Given the description of an element on the screen output the (x, y) to click on. 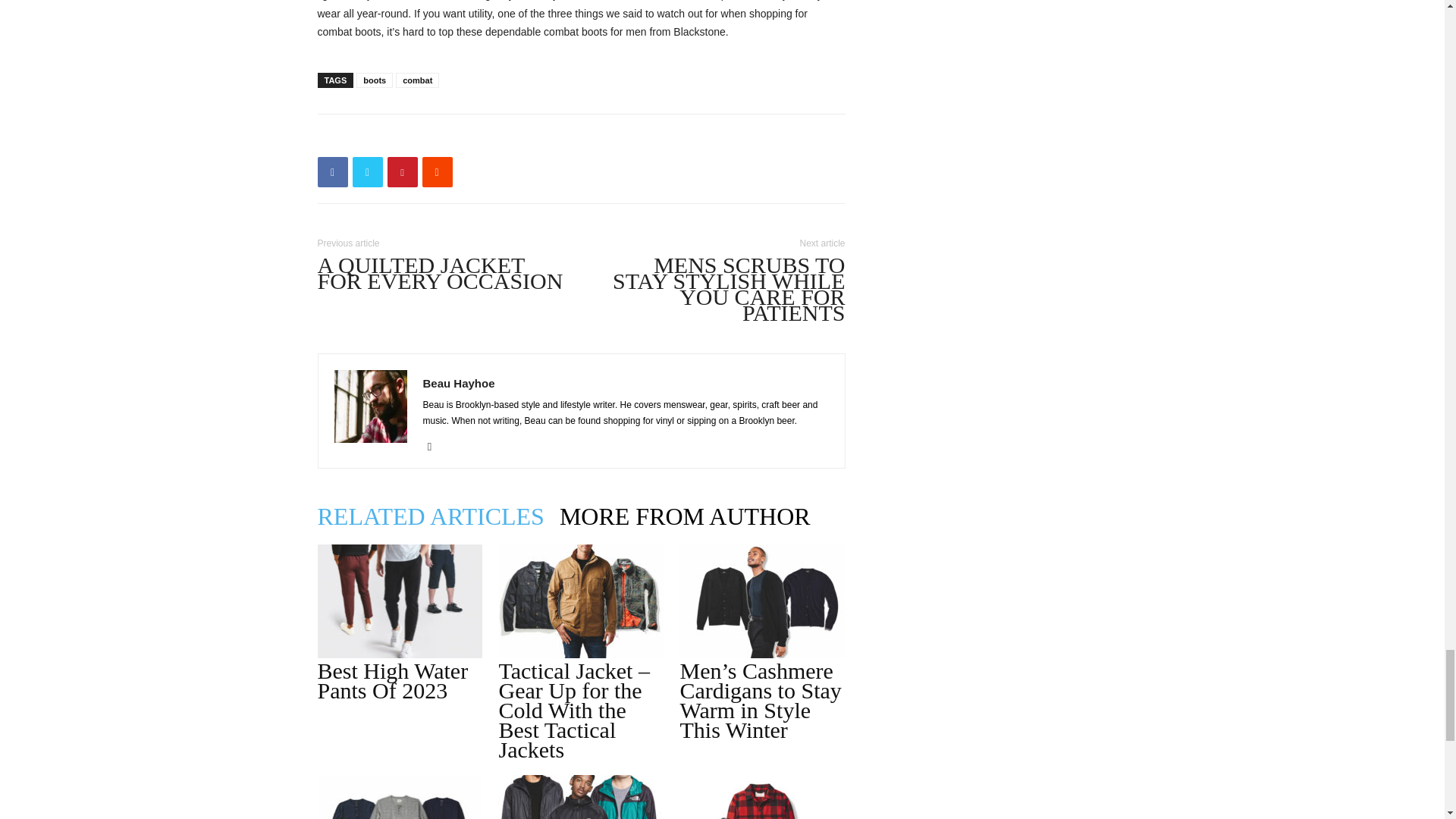
Twitter (366, 172)
bottomFacebookLike (430, 138)
Facebook (332, 172)
